Given the description of an element on the screen output the (x, y) to click on. 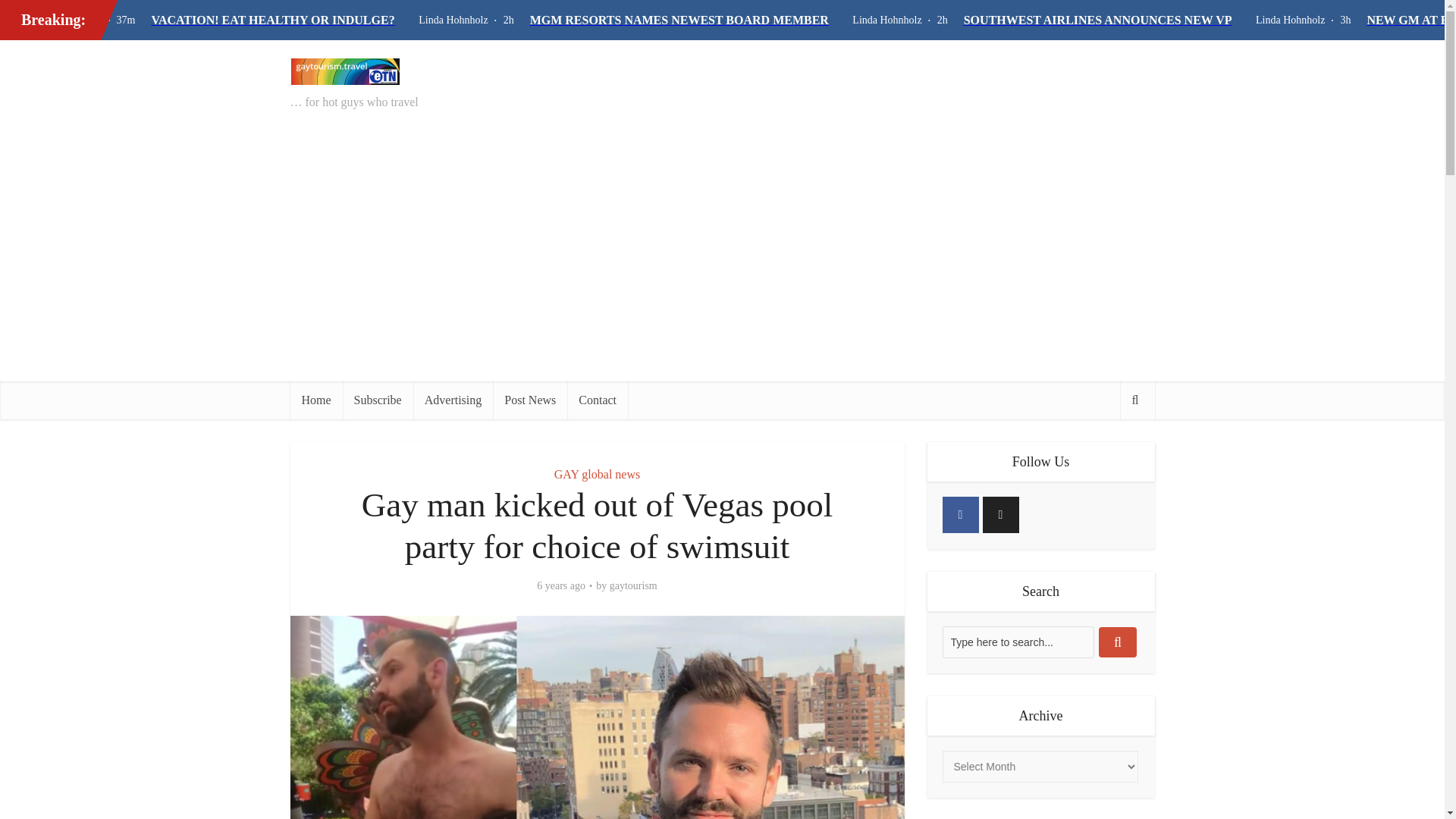
gaytourism (634, 585)
Contact (597, 400)
Type here to search... (1017, 642)
Home (315, 400)
Subscribe (377, 400)
Type here to search... (1017, 642)
GAY global news (597, 473)
Advertising (453, 400)
Post News (530, 400)
